Given the description of an element on the screen output the (x, y) to click on. 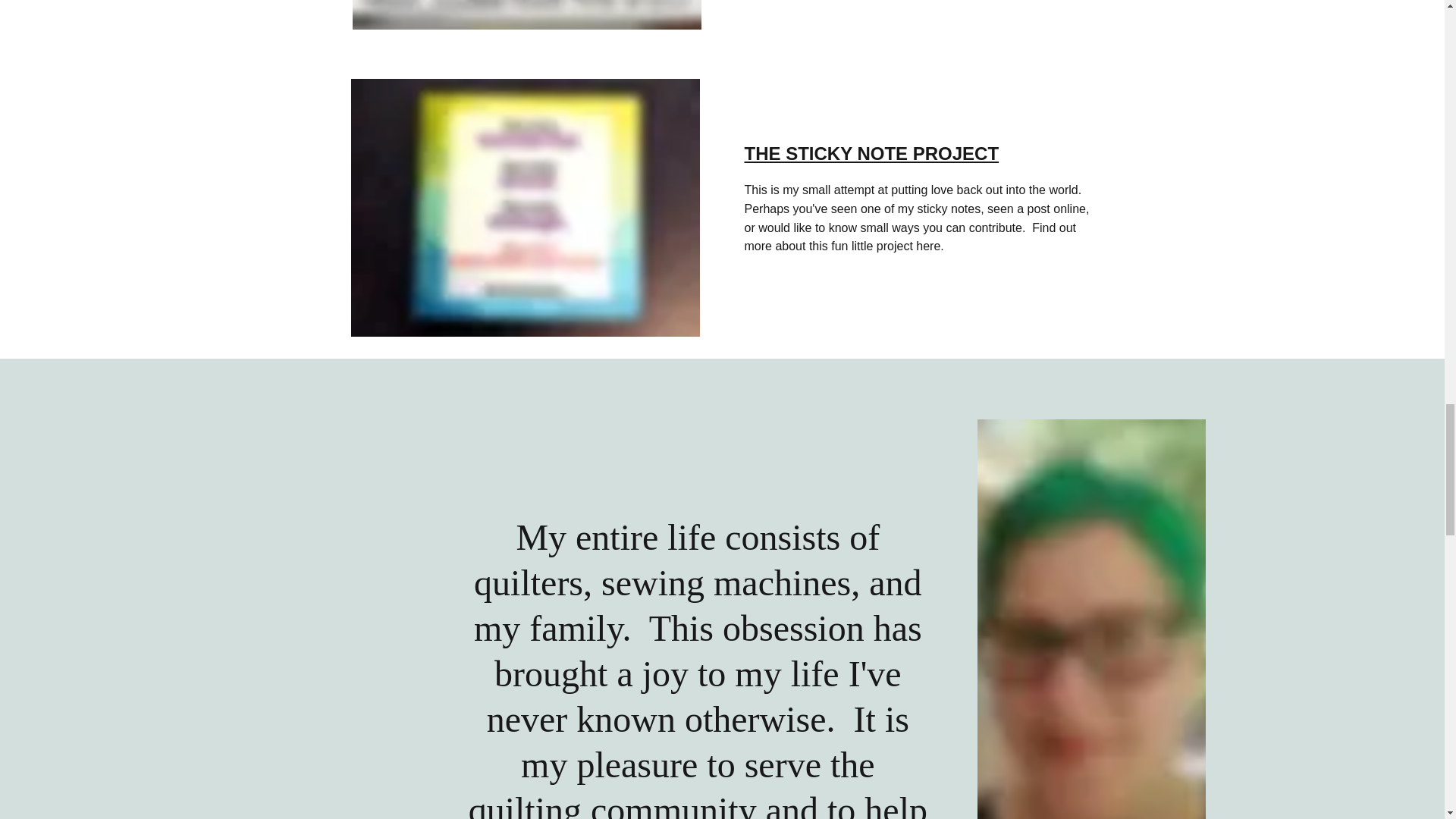
THE STICKY NOTE PROJECT (871, 153)
